Given the description of an element on the screen output the (x, y) to click on. 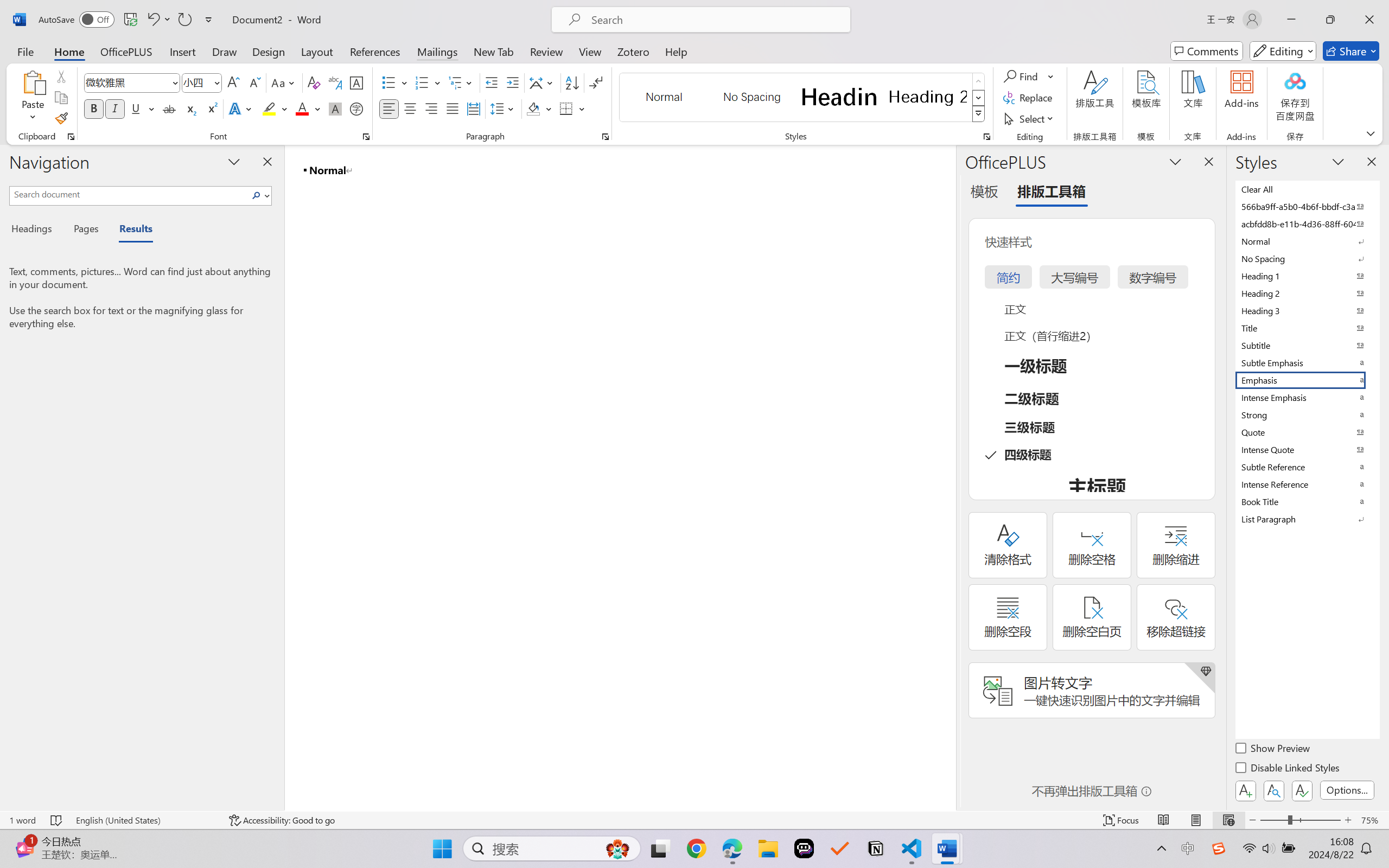
Class: NetUIImage (978, 114)
Repeat Doc Close (184, 19)
No Spacing (1306, 258)
Styles... (986, 136)
Task Pane Options (1175, 161)
Shrink Font (253, 82)
Grow Font (233, 82)
Show/Hide Editing Marks (595, 82)
Heading 3 (1306, 310)
566ba9ff-a5b0-4b6f-bbdf-c3ab41993fc2 (1306, 206)
Text Highlight Color (274, 108)
Shading RGB(0, 0, 0) (533, 108)
Quick Access Toolbar (127, 19)
